Given the description of an element on the screen output the (x, y) to click on. 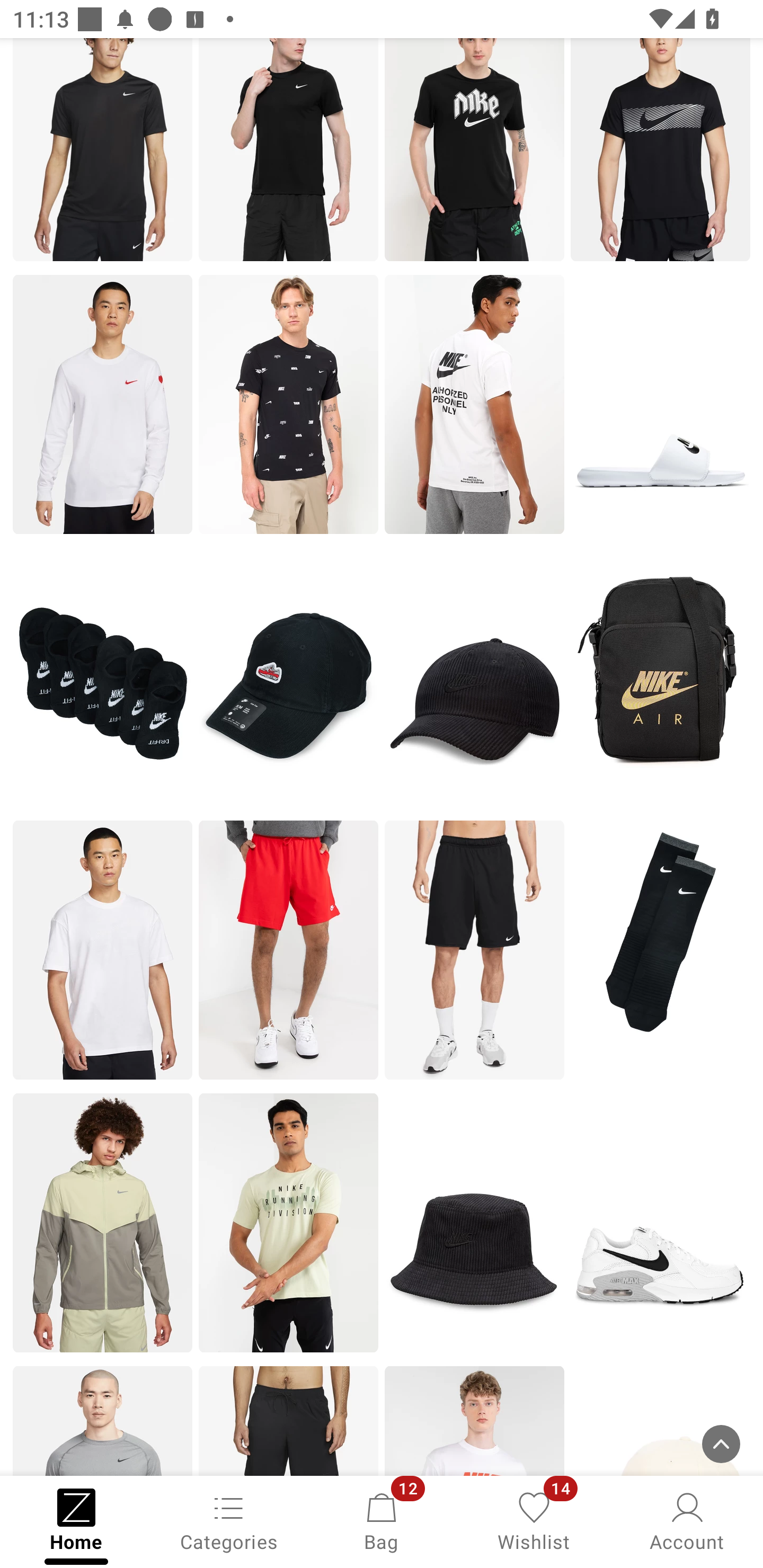
Categories (228, 1519)
Bag, 12 new notifications Bag (381, 1519)
Wishlist, 14 new notifications Wishlist (533, 1519)
Account (686, 1519)
